Given the description of an element on the screen output the (x, y) to click on. 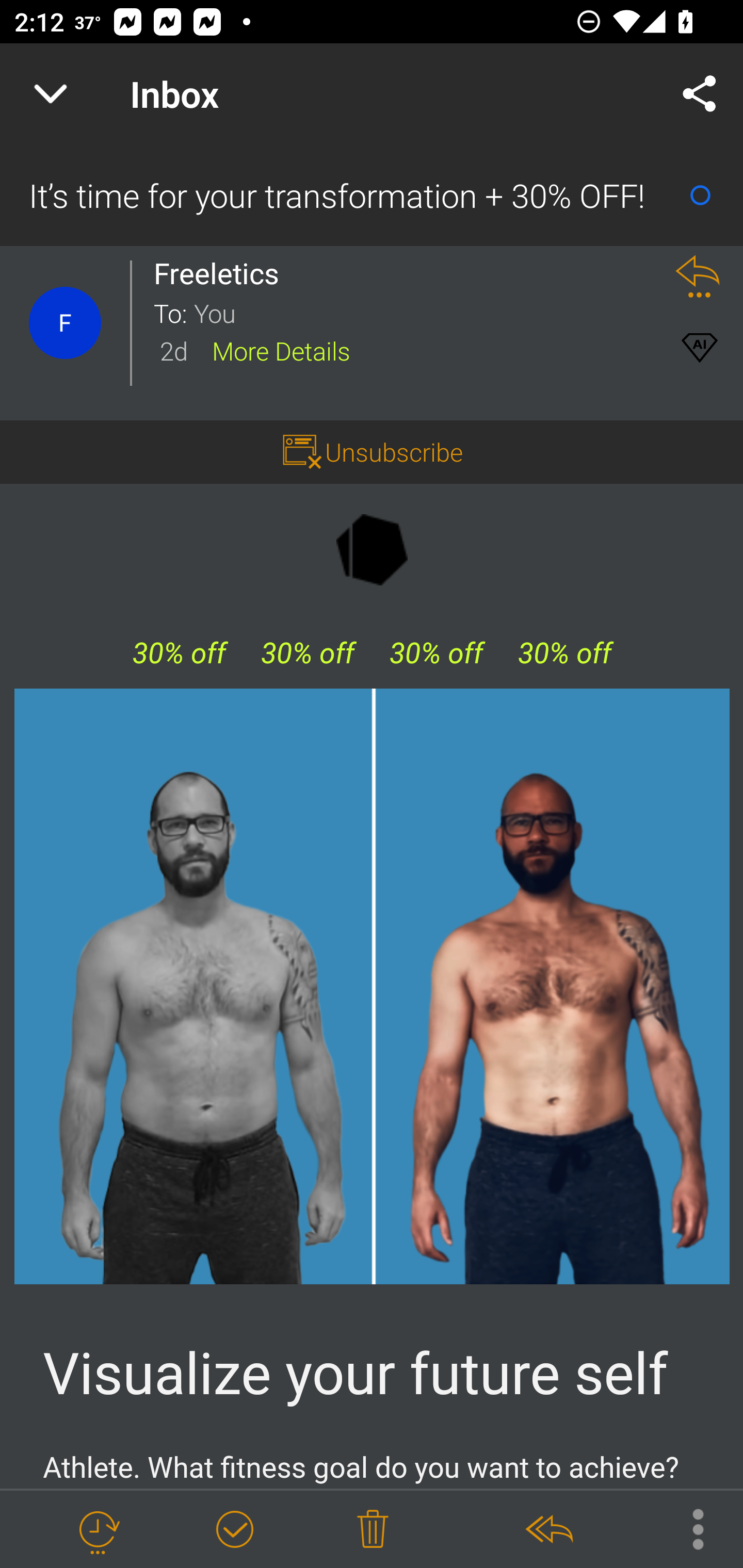
Navigate up (50, 93)
Share (699, 93)
Mark as Read (699, 194)
Freeletics (221, 273)
Contact Details (64, 322)
You (422, 311)
More Details (280, 349)
Unsubscribe (393, 451)
30% off     30% off     30% off     30% off (371, 653)
original (372, 985)
Load more (371, 1373)
More Options (687, 1528)
Snooze (97, 1529)
Mark as Done (234, 1529)
Delete (372, 1529)
Reply All (548, 1529)
